Given the description of an element on the screen output the (x, y) to click on. 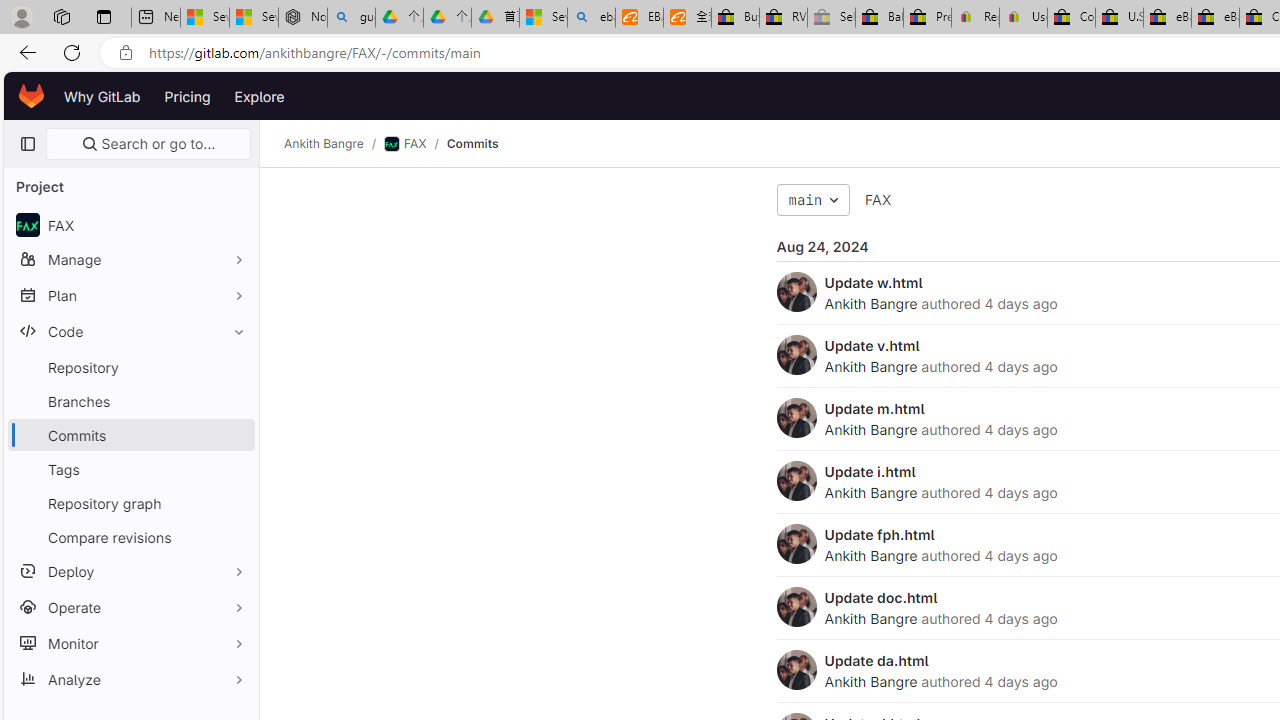
Ankith Bangre's avatar (795, 669)
U.S. State Privacy Disclosures - eBay Inc. (1119, 17)
Sell worldwide with eBay - Sleeping (831, 17)
Primary navigation sidebar (27, 143)
Ankith Bangre/ (334, 143)
Plan (130, 295)
Branches (130, 400)
Register: Create a personal eBay account (975, 17)
Compare revisions (130, 536)
eBay Inc. Reports Third Quarter 2023 Results (1215, 17)
